Given the description of an element on the screen output the (x, y) to click on. 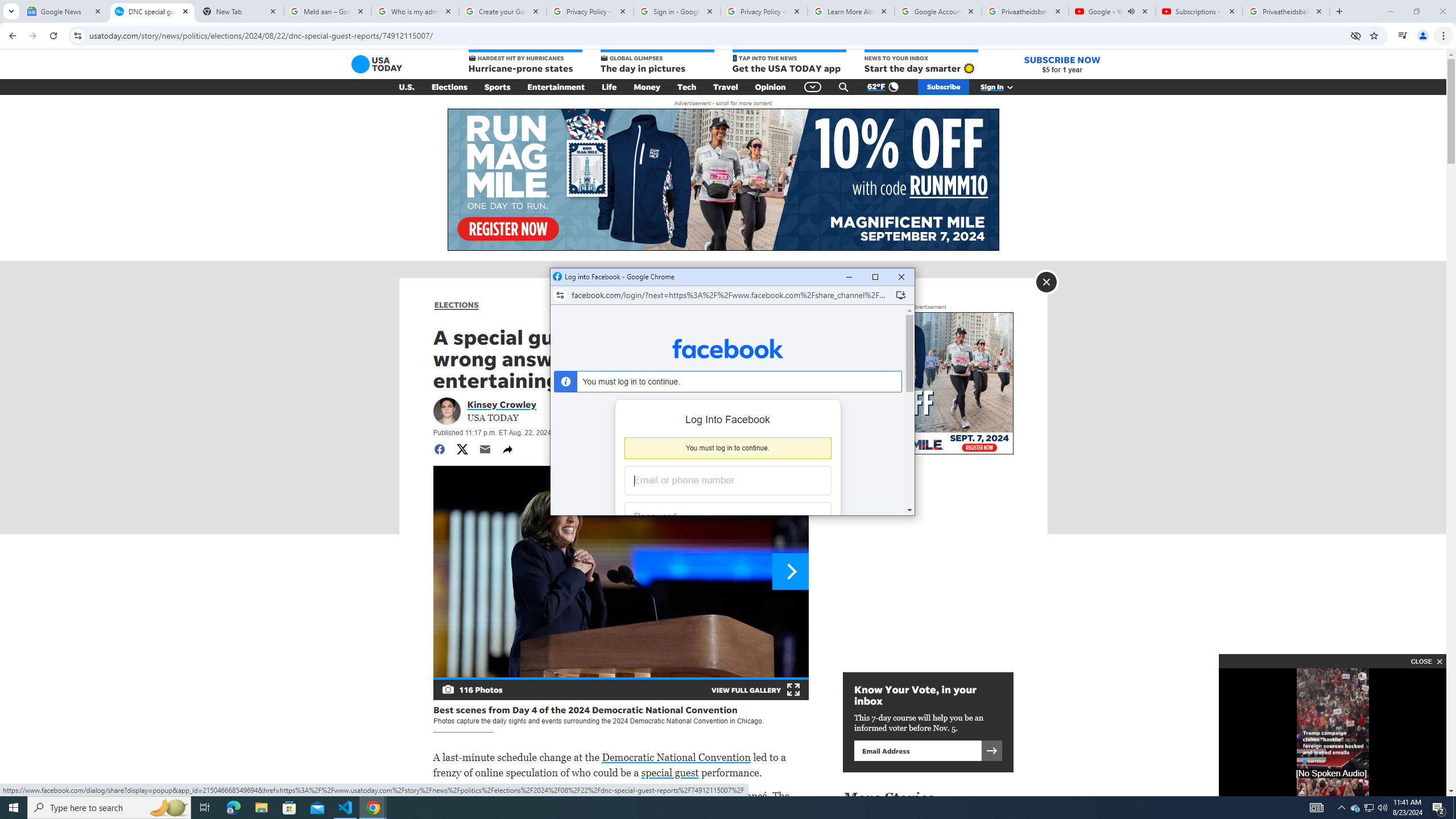
Taylor Swift (686, 795)
